Given the description of an element on the screen output the (x, y) to click on. 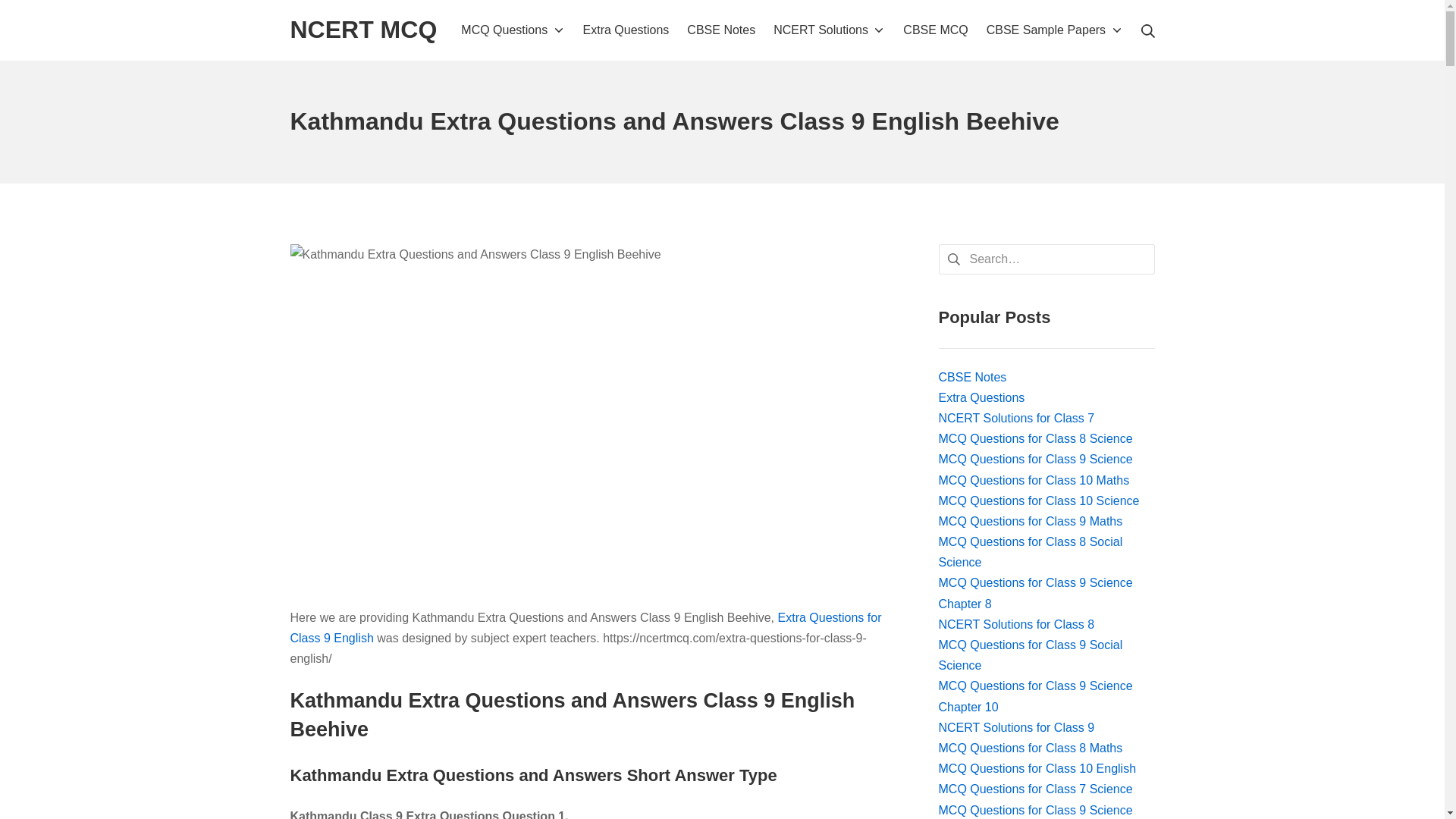
NCERT MCQ (362, 29)
Extra Questions (626, 29)
CBSE MCQ (935, 29)
CBSE Notes (721, 29)
MCQ Questions (512, 29)
NCERT Solutions (829, 29)
